Given the description of an element on the screen output the (x, y) to click on. 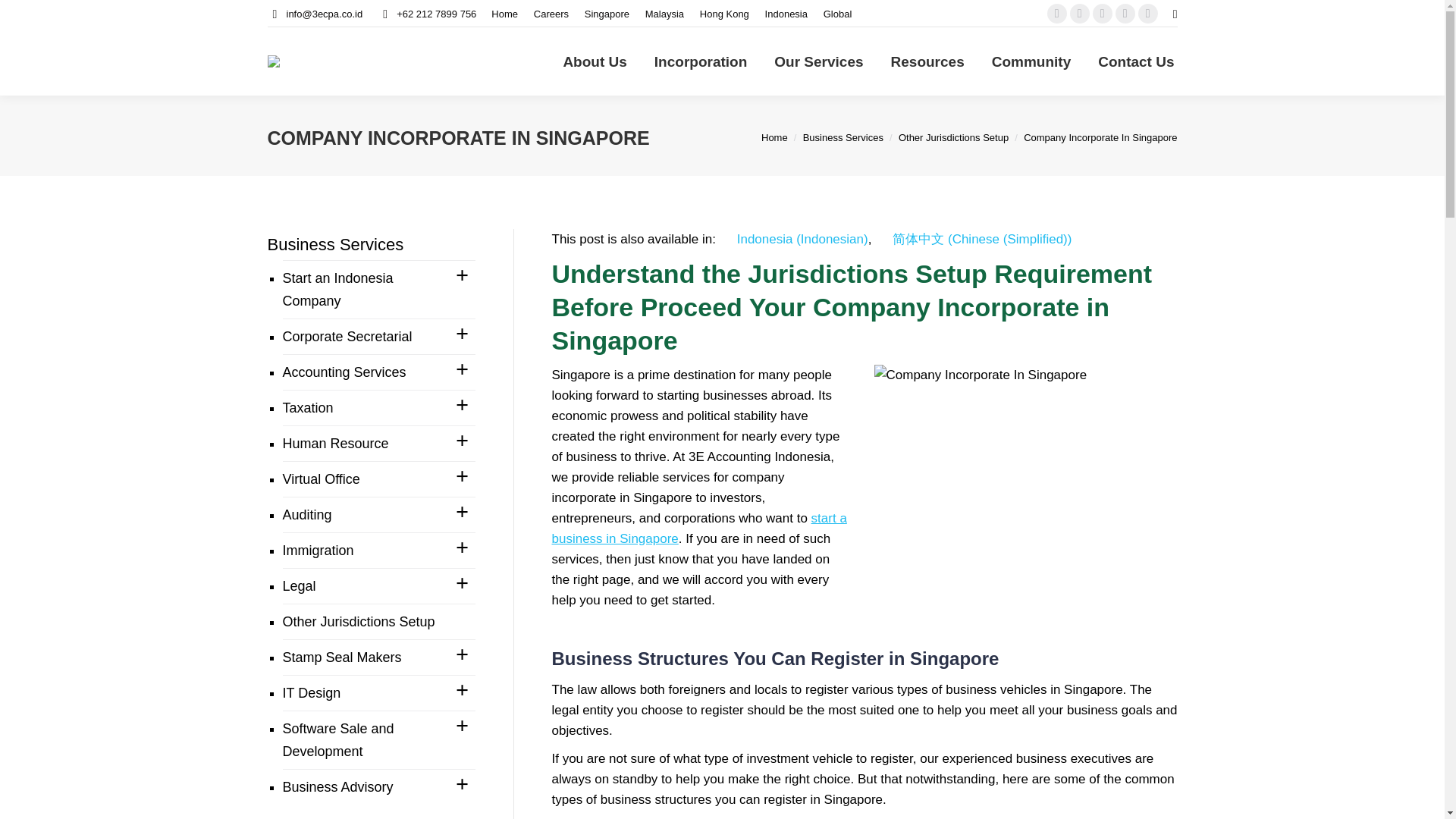
Call Us Today! (436, 12)
X page opens in new window (1079, 13)
3E Accounting Singapore (606, 12)
3E Accounting International Network (837, 12)
3E Accounting Indonesia (505, 12)
3E Accounting Hong Kong (724, 12)
3E Accounting Indonesia (786, 12)
Facebook page opens in new window (1056, 13)
X page opens in new window (1079, 13)
Email Us Today! (324, 12)
